Given the description of an element on the screen output the (x, y) to click on. 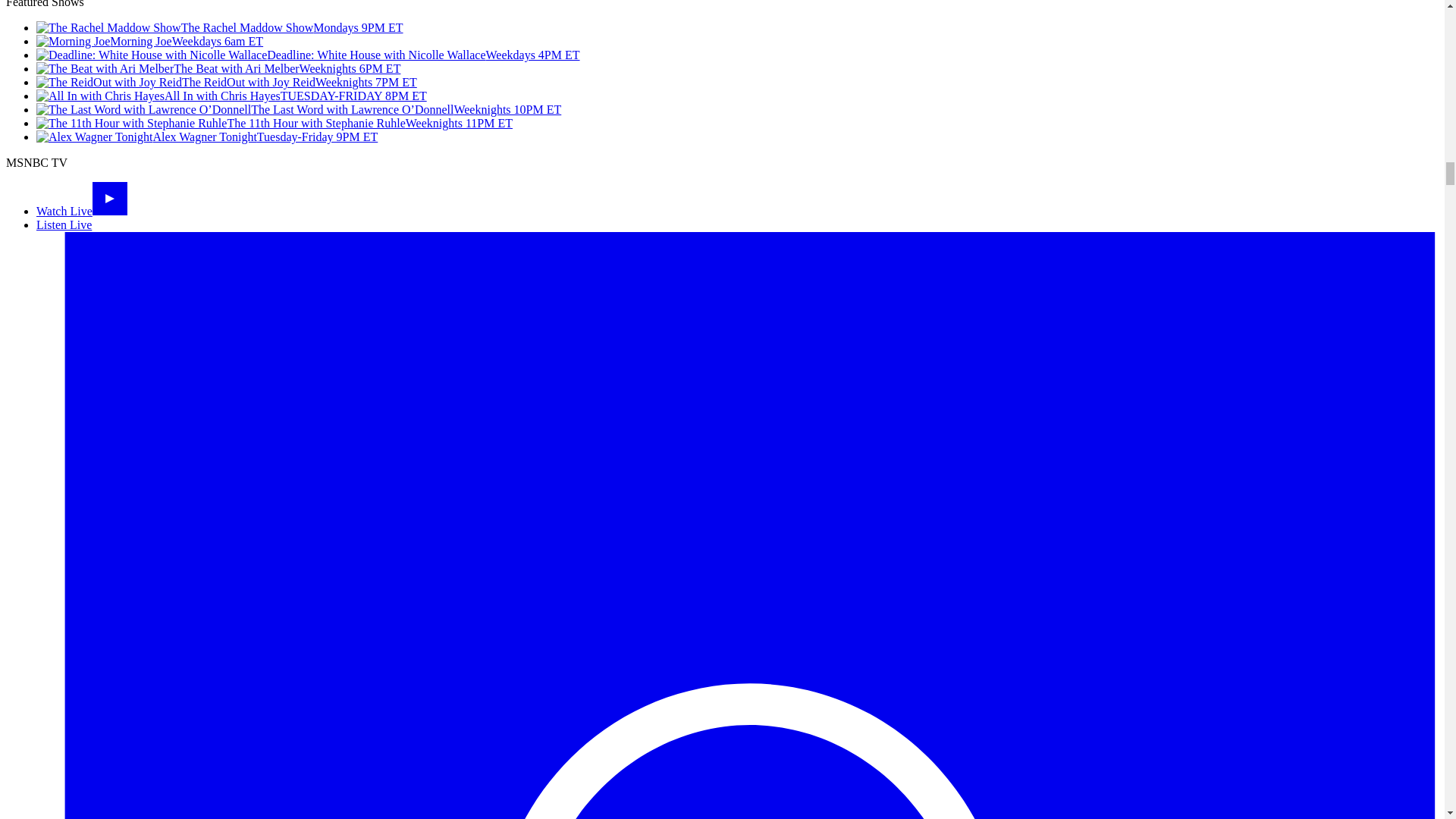
Deadline: White House with Nicolle WallaceWeekdays 4PM ET (307, 54)
The Beat with Ari MelberWeeknights 6PM ET (218, 68)
The Rachel Maddow ShowMondays 9PM ET (219, 27)
Alex Wagner TonightTuesday-Friday 9PM ET (206, 136)
Watch Live (82, 210)
The ReidOut with Joy ReidWeeknights 7PM ET (226, 82)
The 11th Hour with Stephanie RuhleWeeknights 11PM ET (274, 123)
All In with Chris HayesTUESDAY-FRIDAY 8PM ET (231, 95)
Morning JoeWeekdays 6am ET (149, 41)
